Given the description of an element on the screen output the (x, y) to click on. 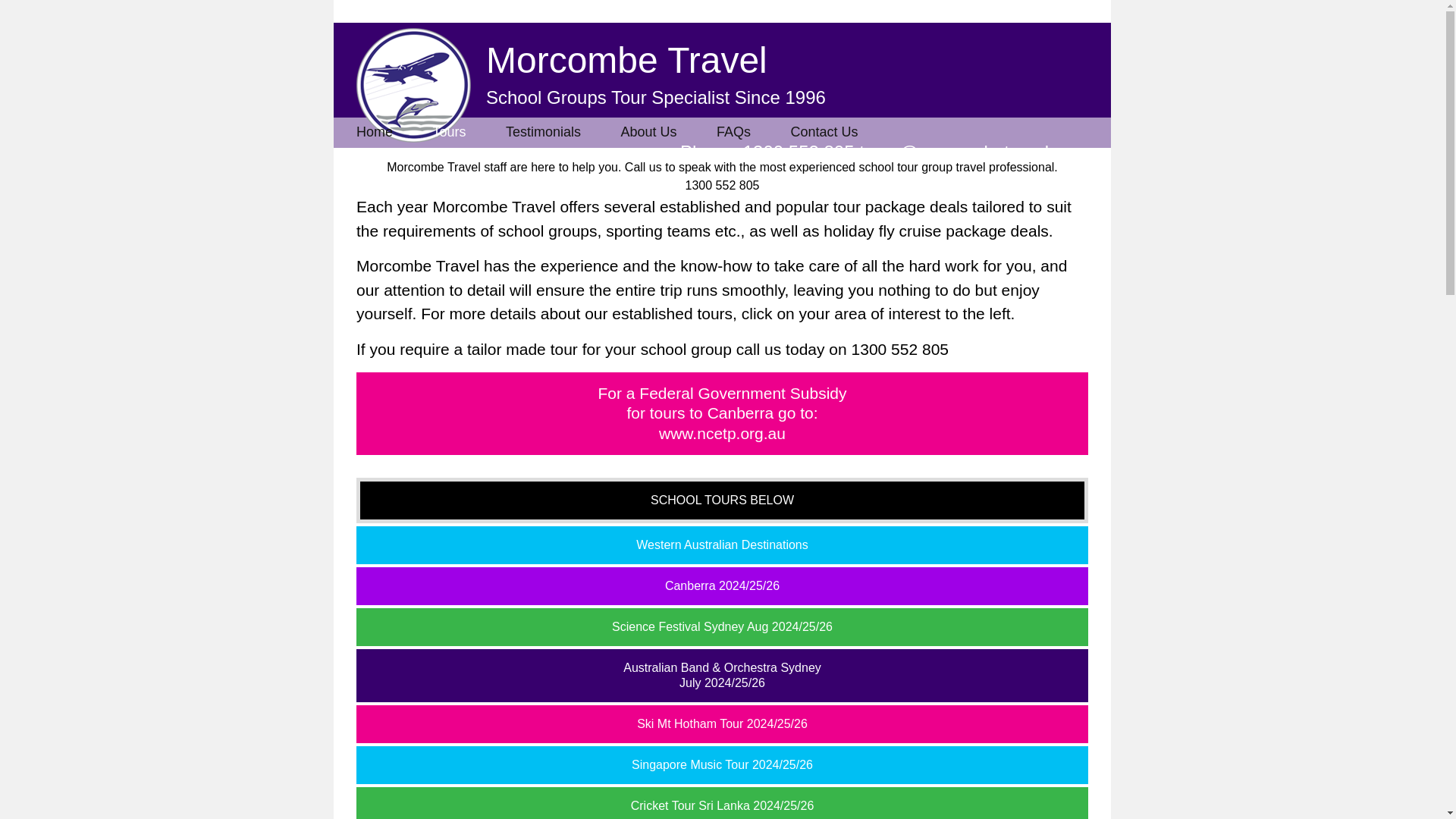
Testimonials (542, 131)
FAQs (733, 131)
Contact Us (823, 131)
1300 552 805 (798, 151)
Tours (448, 131)
Home (383, 131)
1300 552 805 (900, 348)
www.ncetp.org.au (722, 433)
About Us (648, 131)
Western Australian Destinations (722, 544)
